Given the description of an element on the screen output the (x, y) to click on. 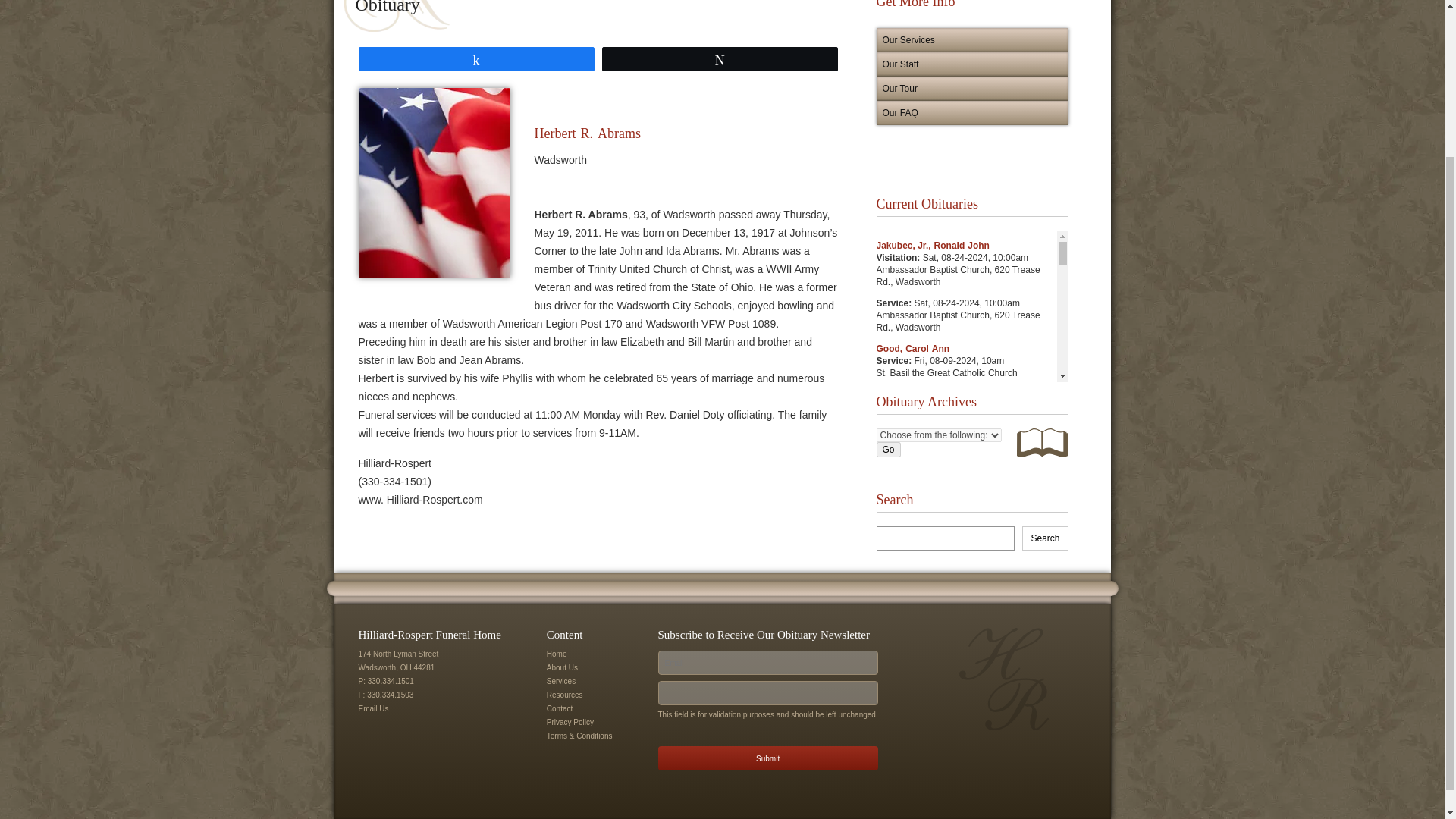
Our Tour (972, 88)
Our FAQ (972, 112)
Go (888, 449)
Submit (767, 758)
Our Staff (972, 64)
Our Services (972, 39)
